Given the description of an element on the screen output the (x, y) to click on. 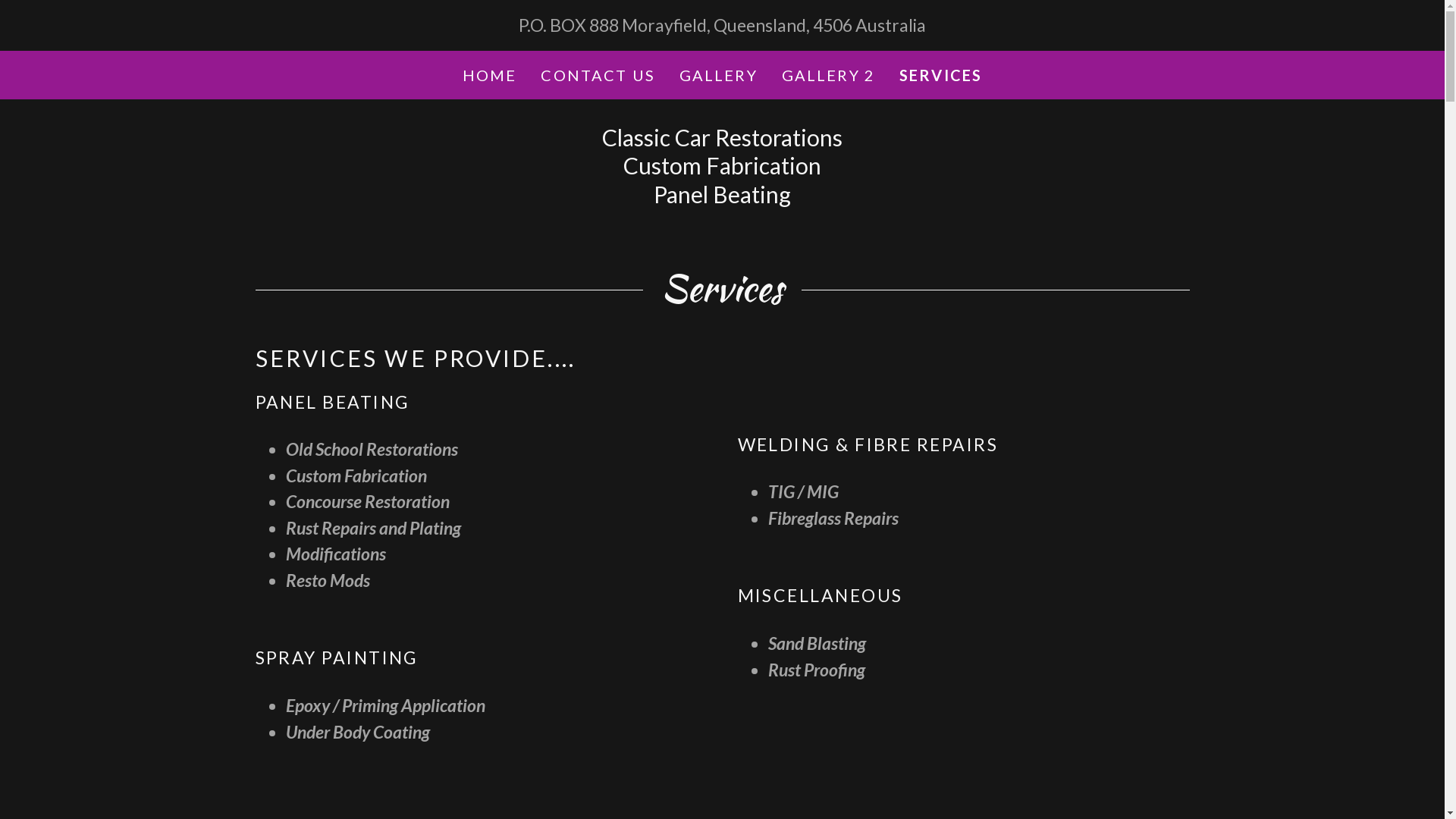
GALLERY 2 Element type: text (828, 73)
GALLERY Element type: text (718, 73)
CONTACT US Element type: text (597, 73)
SERVICES Element type: text (940, 74)
HOME Element type: text (489, 73)
